Given the description of an element on the screen output the (x, y) to click on. 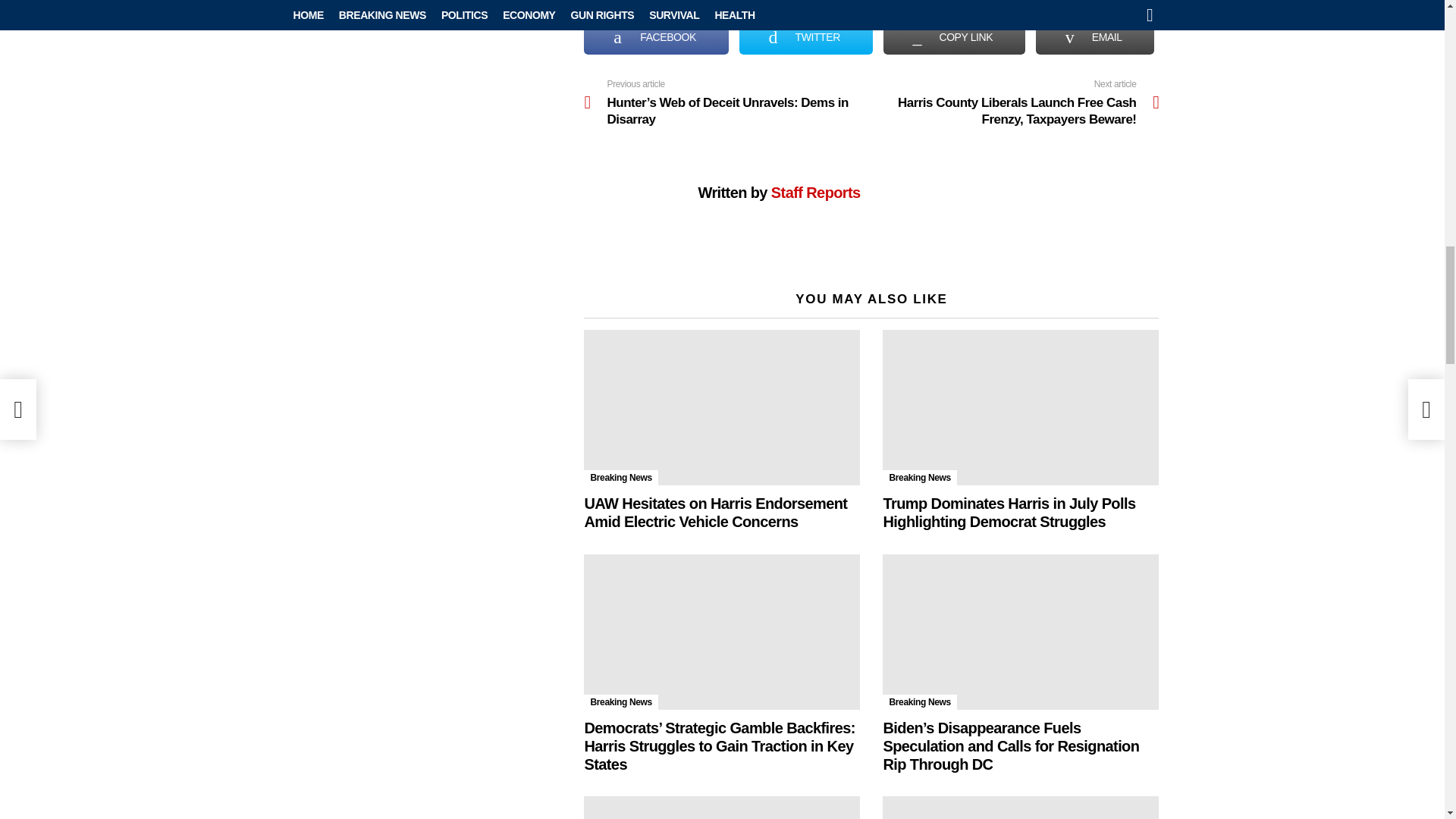
Share on Email (1094, 36)
Share on Facebook (655, 36)
Share on Copy Link (954, 36)
Share on Twitter (805, 36)
